Given the description of an element on the screen output the (x, y) to click on. 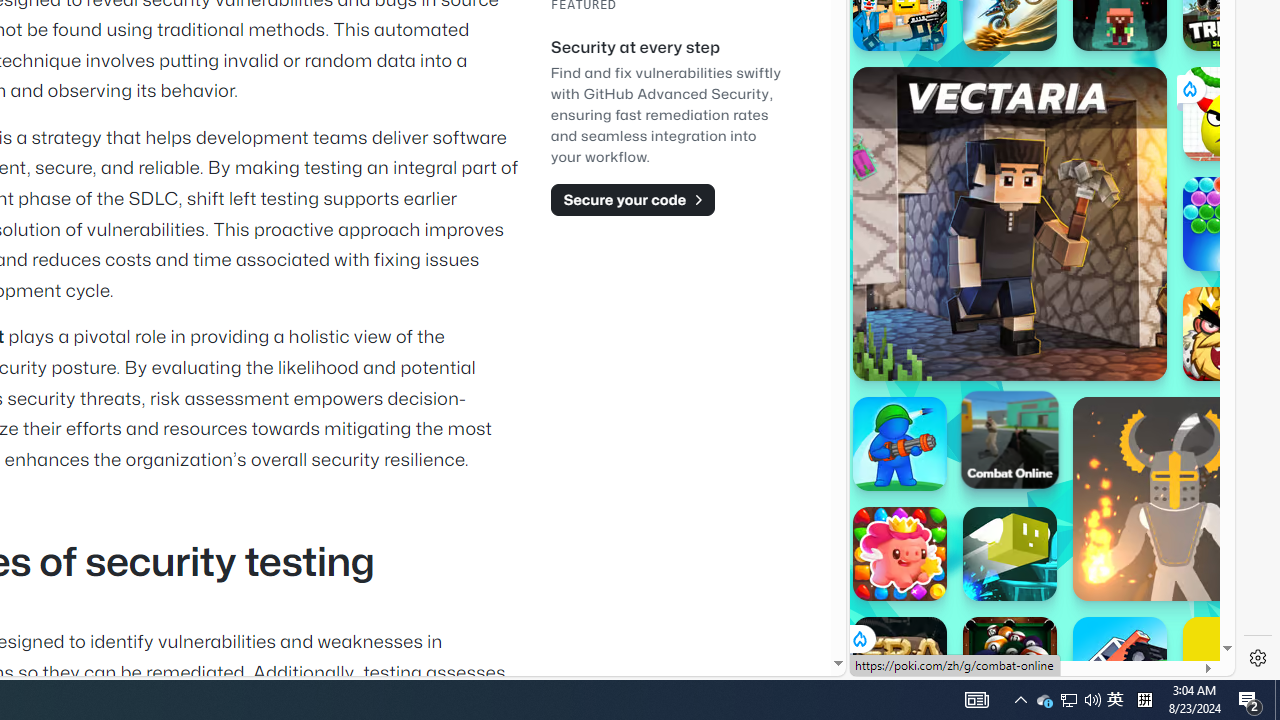
Era: Evolution Era: Evolution (899, 664)
Vectaria.io (1009, 223)
Ragdoll Hit (1174, 498)
Bubble Shooter (1229, 223)
Combat Online (1009, 439)
Era: Evolution (899, 664)
Ragdoll Hit Ragdoll Hit (1174, 498)
Combat Online Combat Online (1009, 439)
Bubble Shooter Bubble Shooter (1229, 223)
Draw To Smash: Logic Puzzle Draw To Smash: Logic Puzzle (1229, 113)
Combat Reloaded (1090, 290)
Hills of Steel (925, 290)
Combat Reloaded (1092, 300)
